Given the description of an element on the screen output the (x, y) to click on. 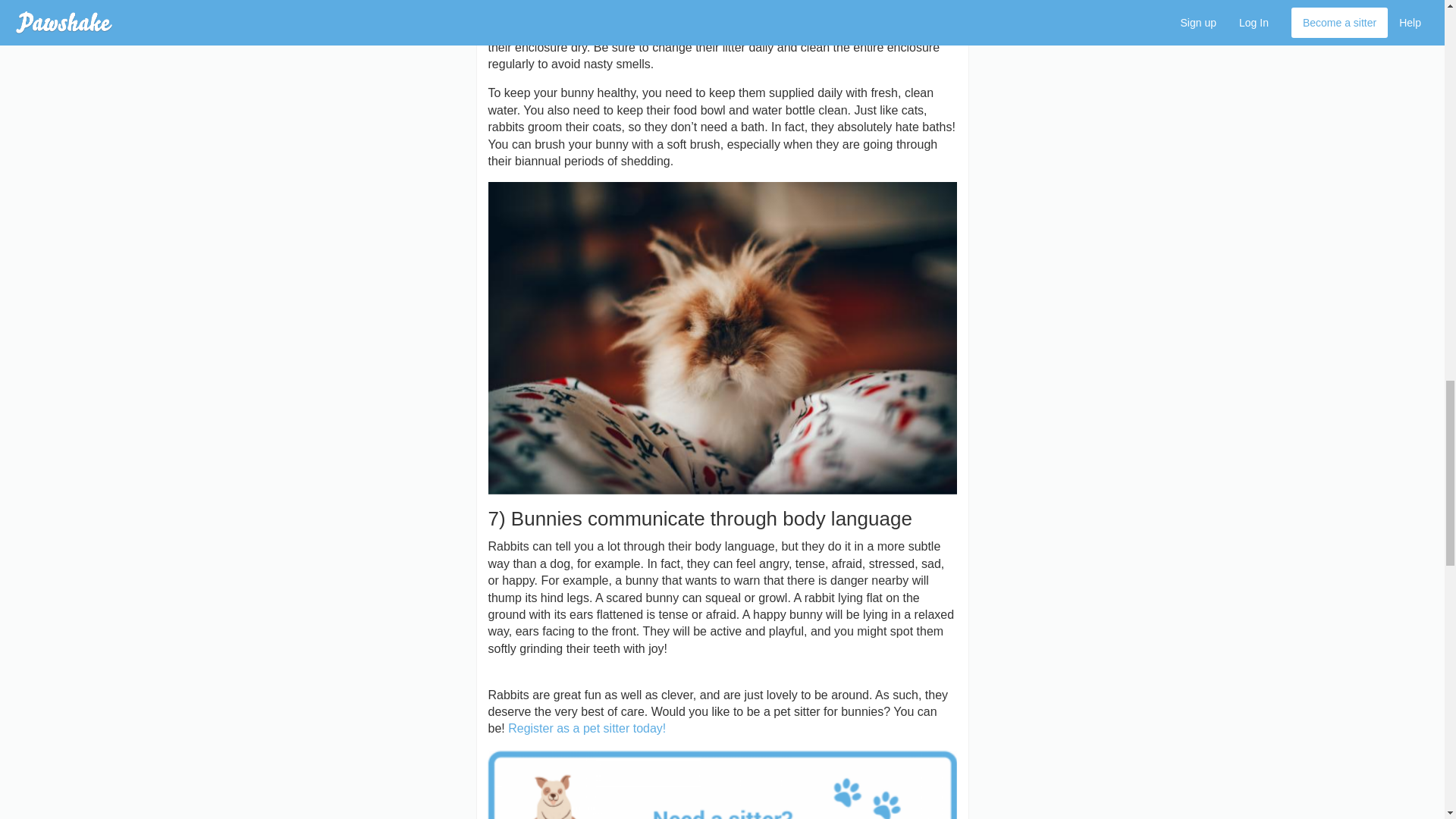
Book a pet sitter (721, 784)
Become a pet sitter (586, 727)
Register as a pet sitter today! (586, 727)
